Given the description of an element on the screen output the (x, y) to click on. 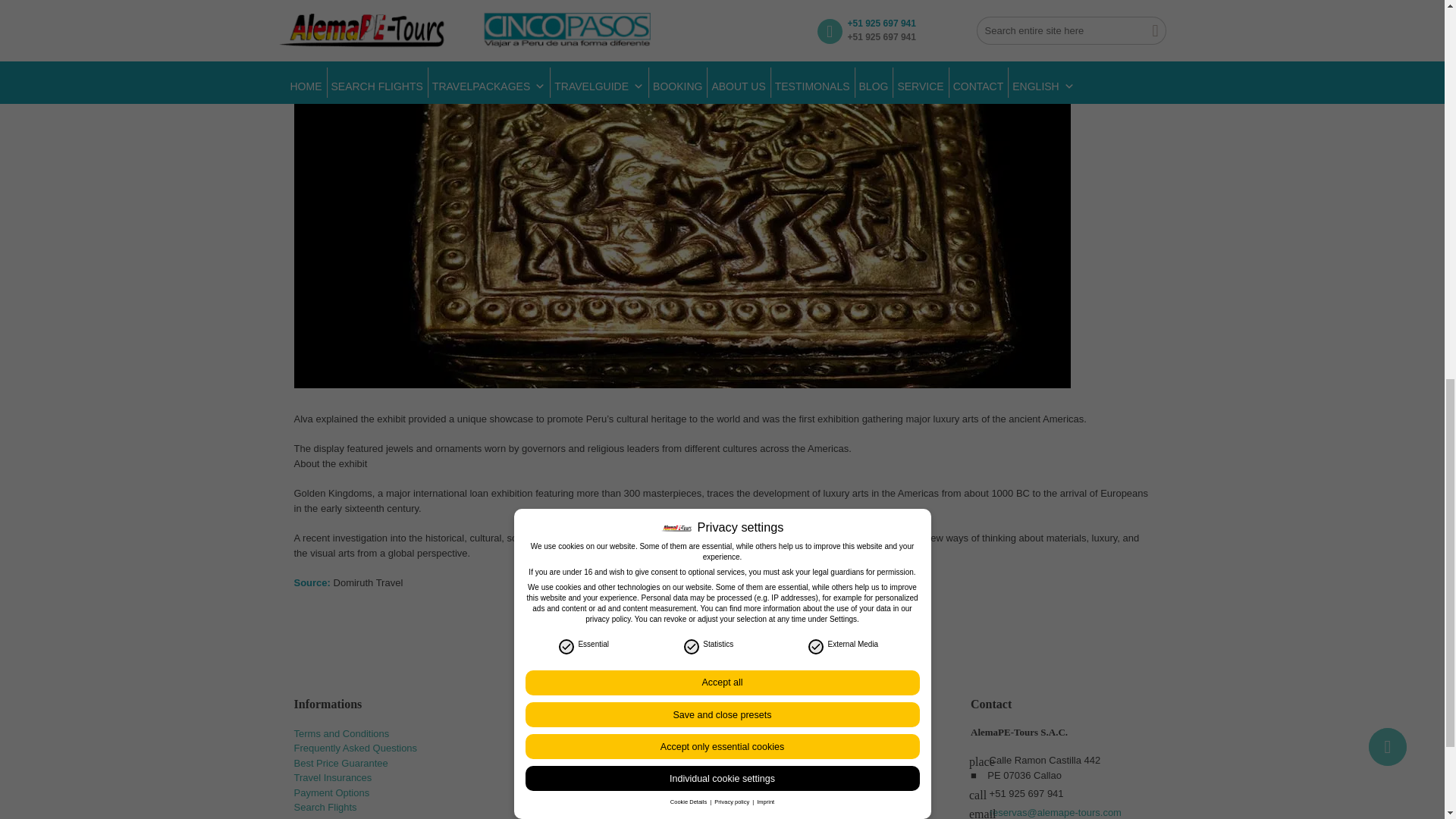
facebook (534, 741)
youtube (600, 741)
instagram (667, 741)
pinterest (634, 741)
twitter (568, 741)
